Given the description of an element on the screen output the (x, y) to click on. 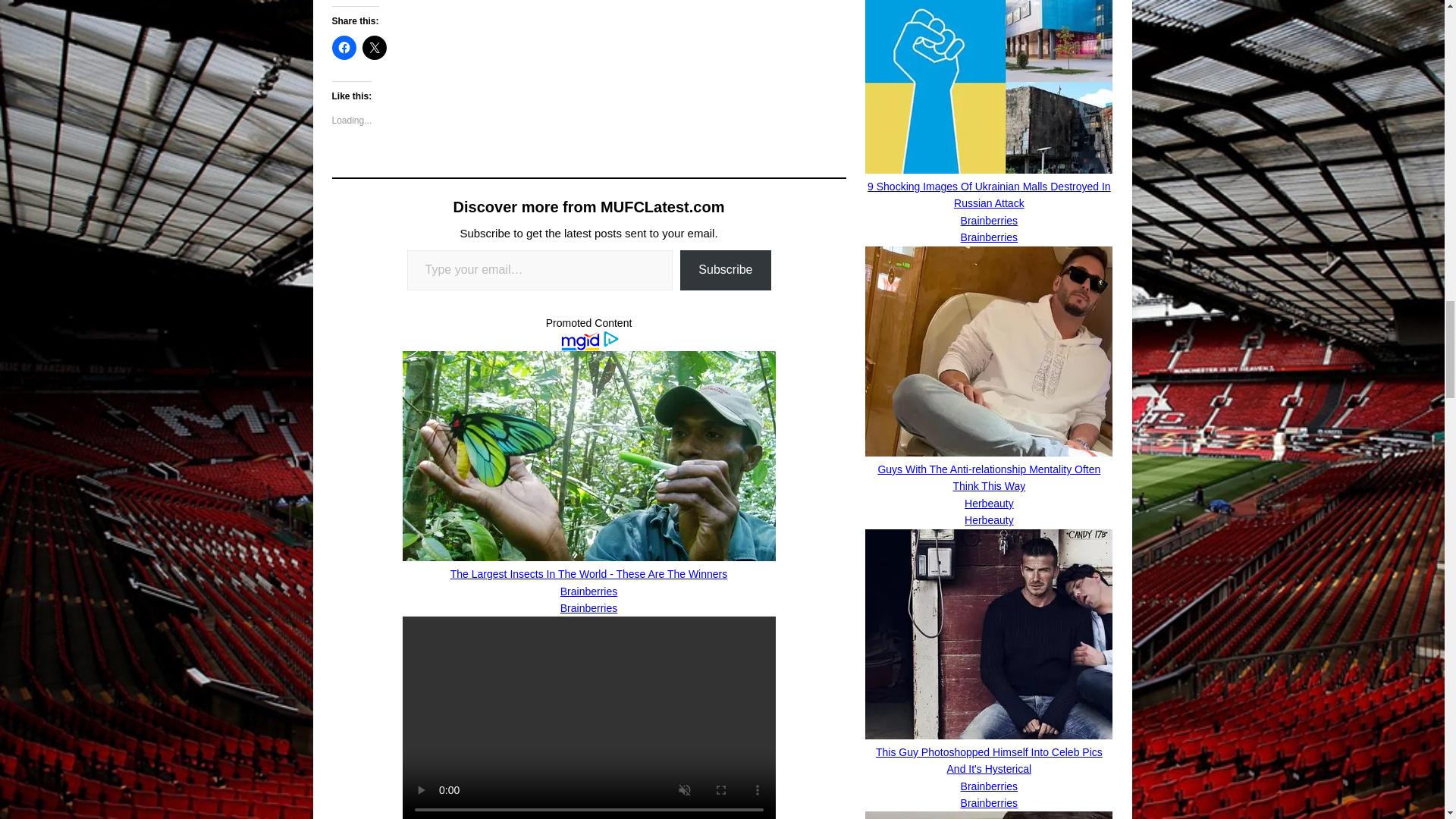
Click to share on Facebook (343, 47)
